Given the description of an element on the screen output the (x, y) to click on. 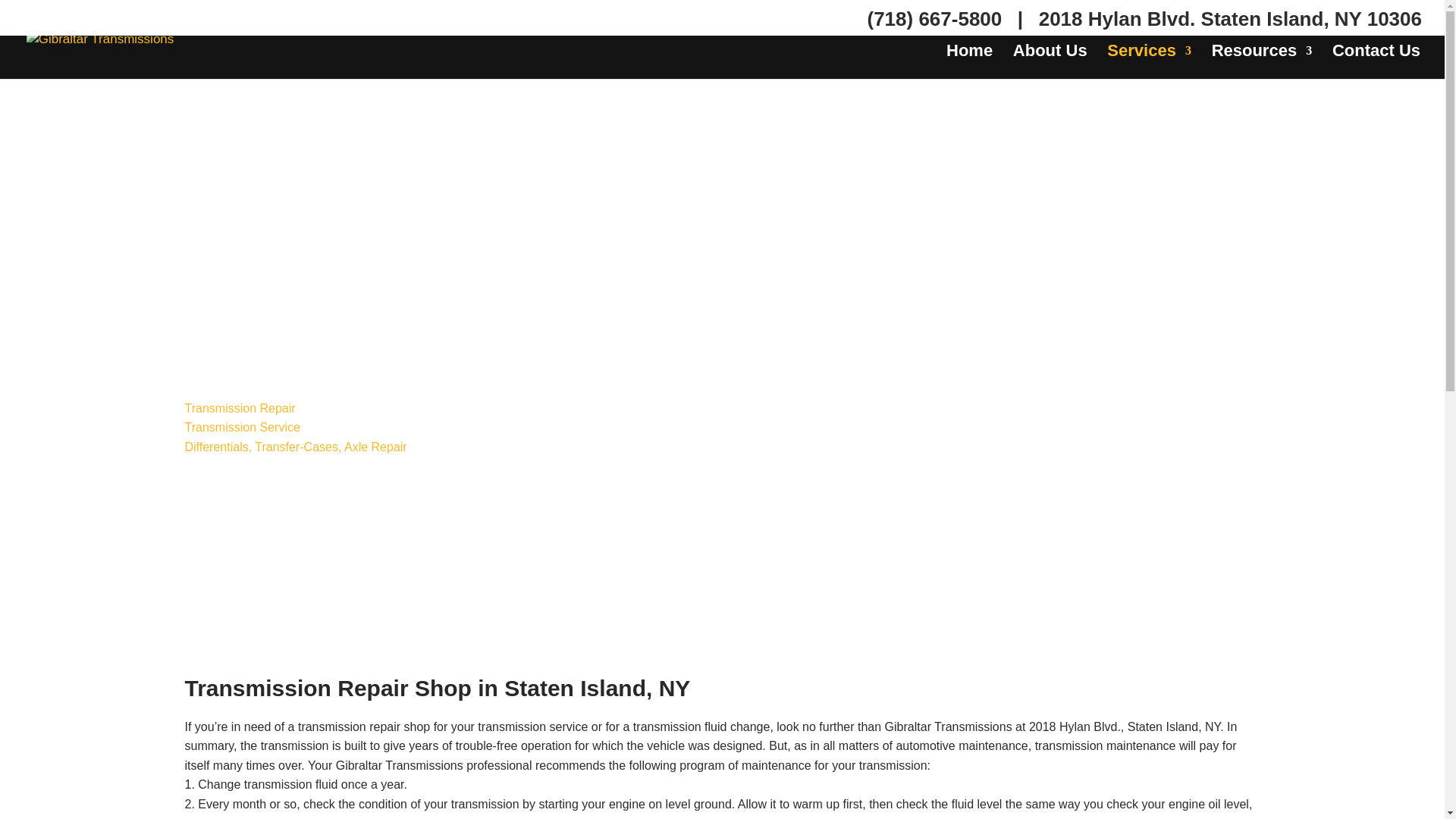
Contact Us (1376, 61)
2018 Hylan Blvd. Staten Island, NY 10306 (1230, 23)
Resources (1262, 61)
About Us (1050, 61)
Services (1148, 61)
Transmission Repair (239, 408)
Transmission Service (241, 427)
Differentials, Transfer-Cases, Axle Repair (295, 446)
Home (969, 61)
